Given the description of an element on the screen output the (x, y) to click on. 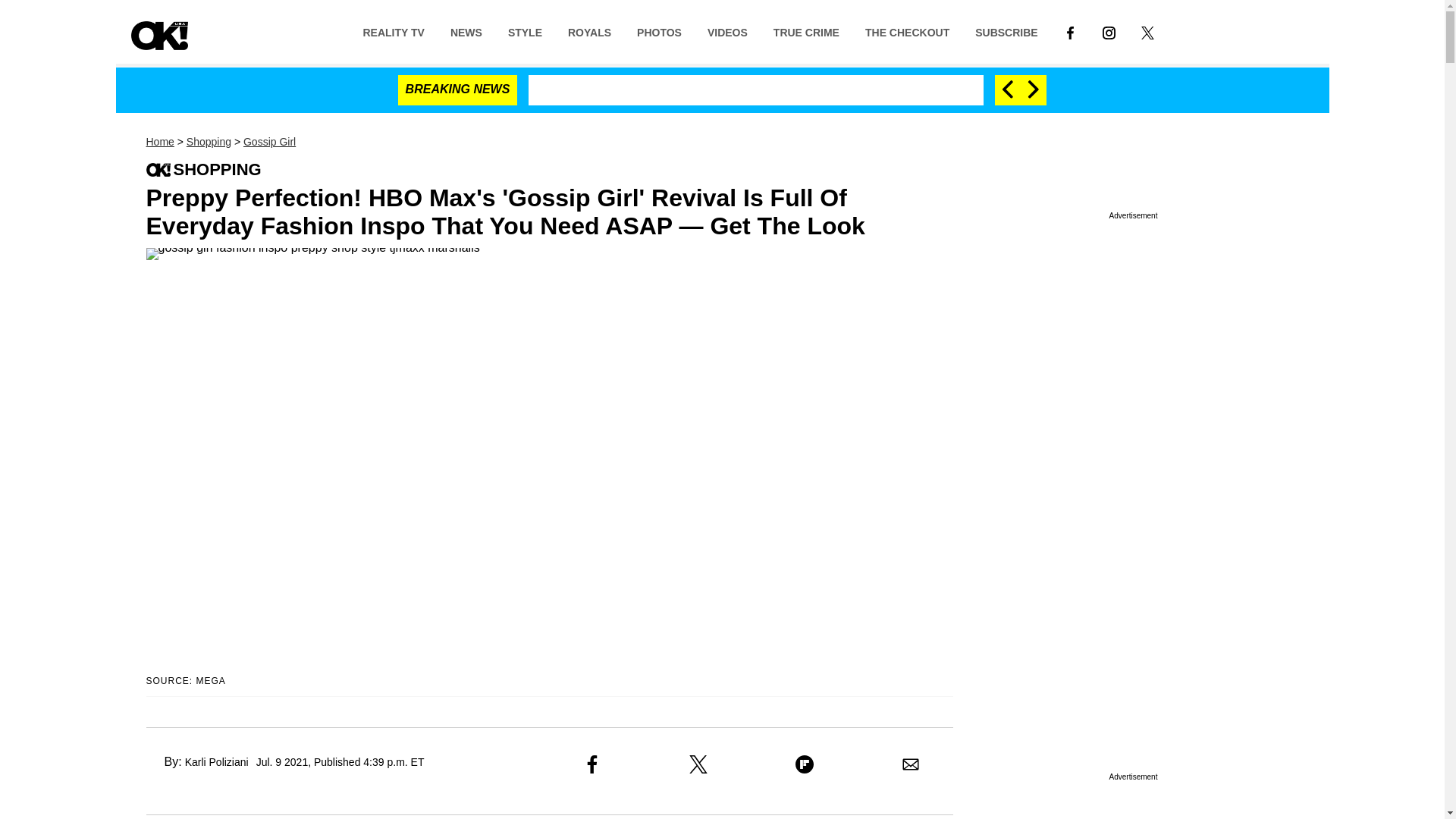
SUBSCRIBE (1005, 31)
STYLE (524, 31)
Share to Email (909, 764)
Gossip Girl (269, 141)
VIDEOS (727, 31)
LINK TO FACEBOOK (1070, 32)
THE CHECKOUT (906, 31)
ROYALS (589, 31)
LINK TO X (1147, 32)
REALITY TV (392, 31)
Share to Flipboard (803, 764)
Shopping (208, 141)
NEWS (466, 31)
Link to Instagram (1108, 31)
LINK TO X (1147, 31)
